Given the description of an element on the screen output the (x, y) to click on. 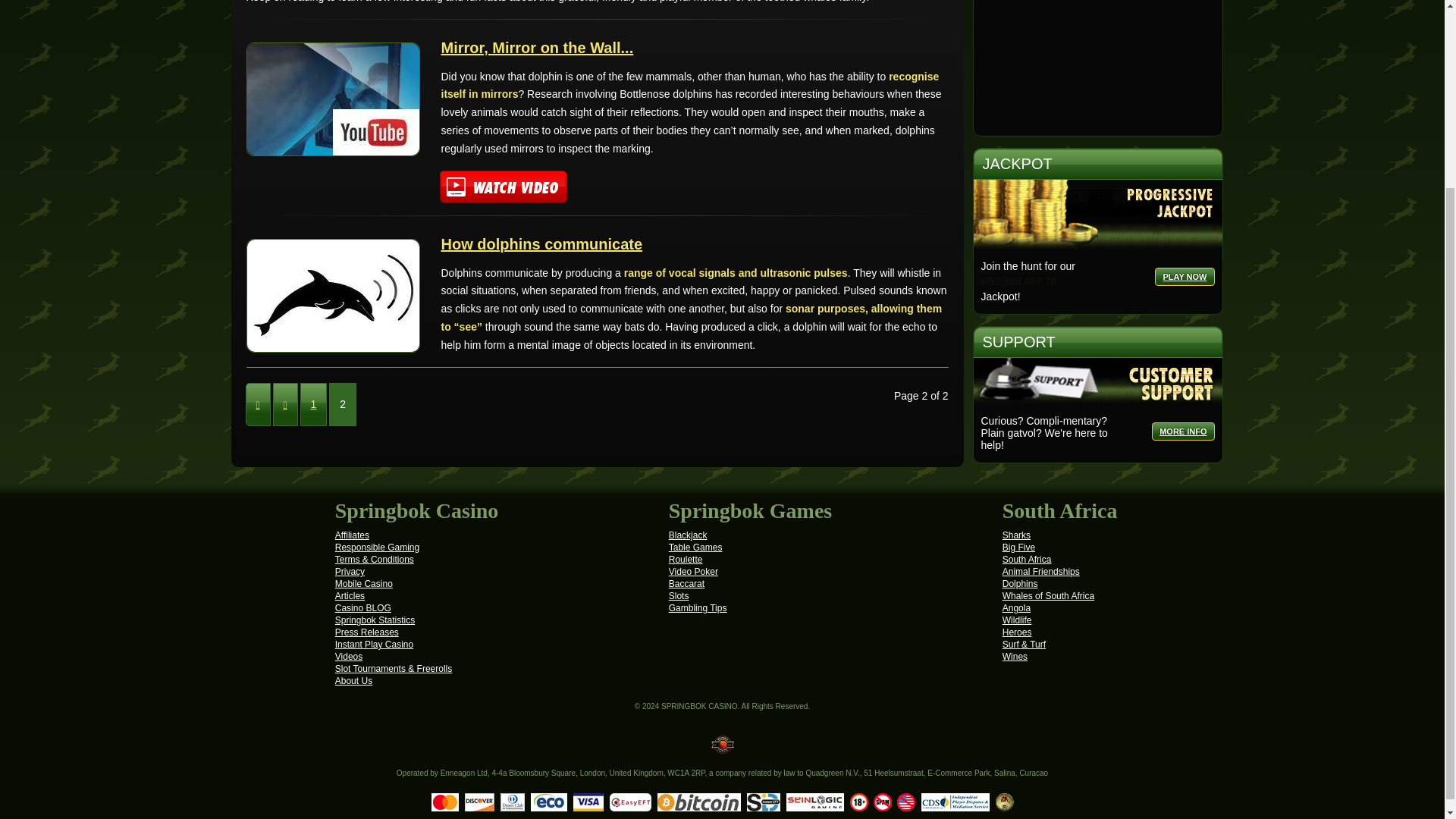
Blackjack (687, 534)
Affiliates (351, 534)
Mobile Casino (363, 583)
About Us (353, 680)
Springbok Statistics (374, 620)
Articles (349, 595)
Casino BLOG (362, 607)
PLAY NOW (1184, 276)
Table Games (695, 547)
Videos (348, 656)
